Given the description of an element on the screen output the (x, y) to click on. 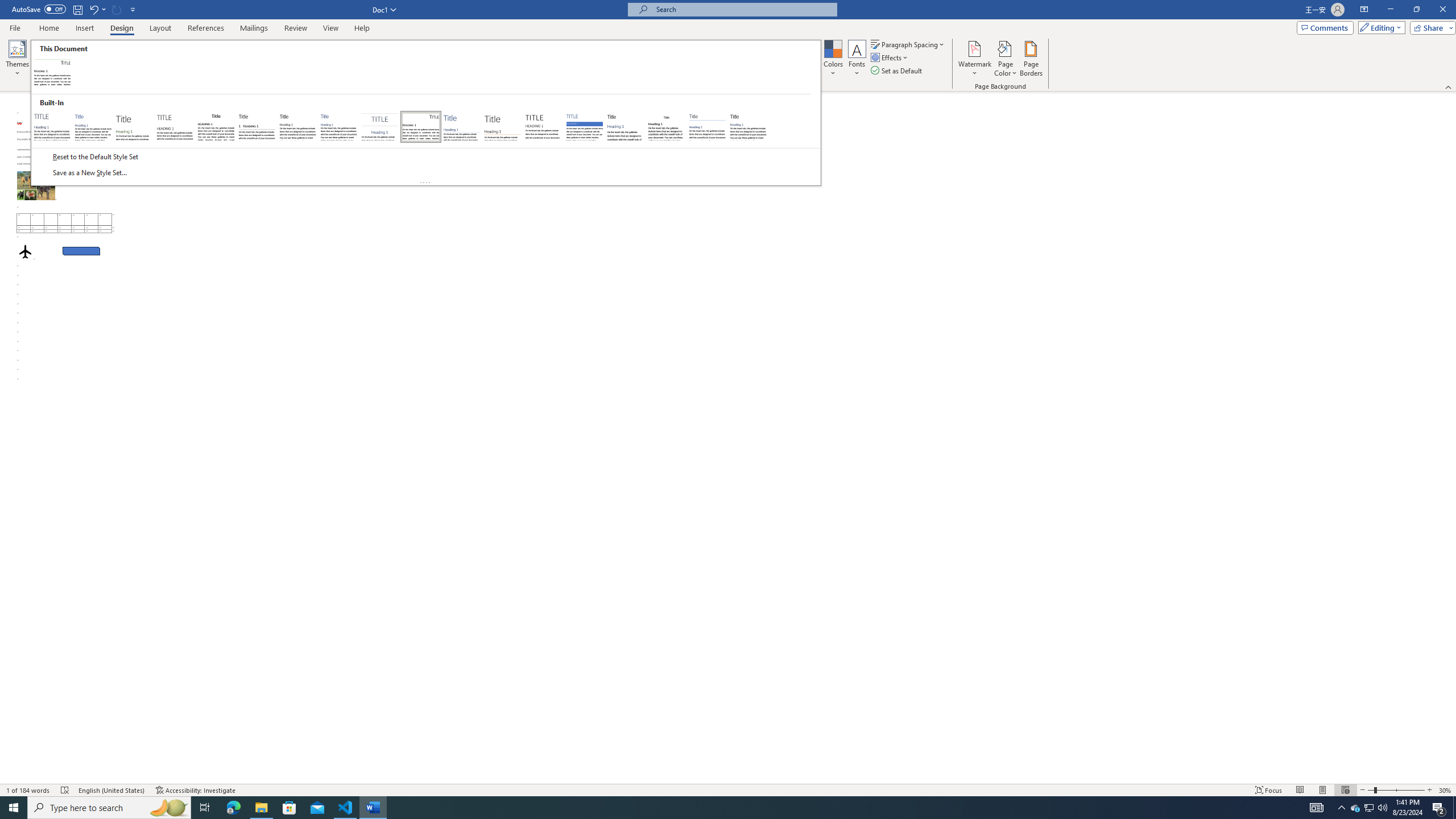
Colors (832, 58)
Zoom 30% (1445, 790)
Running applications (717, 807)
Word Count 1 of 184 words (28, 790)
Themes (17, 58)
Rectangle: Diagonal Corners Snipped 2 (81, 250)
